Given the description of an element on the screen output the (x, y) to click on. 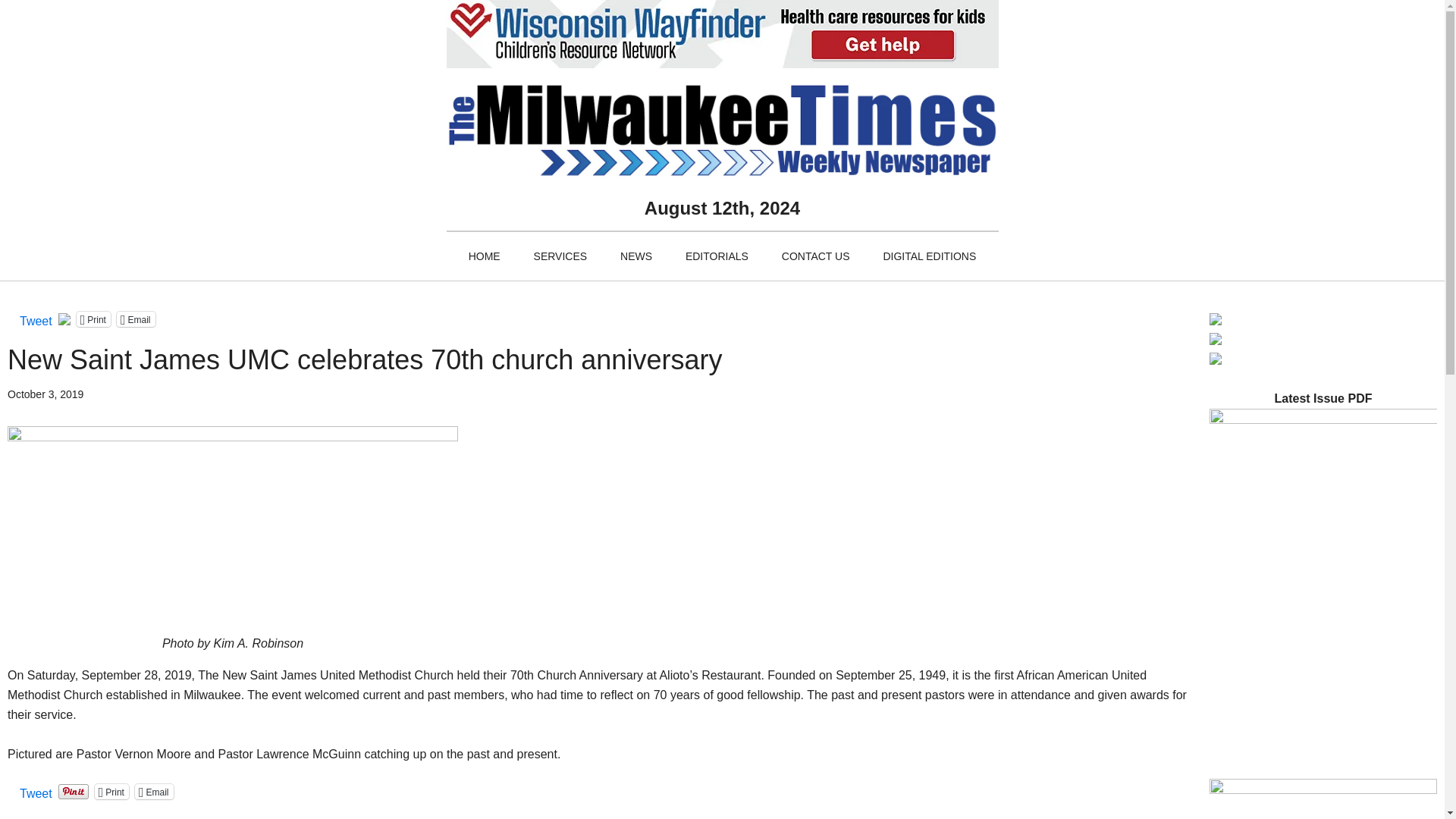
Click to print (93, 319)
NEWS (635, 255)
Email (154, 791)
Tweet (36, 790)
Click to email a link to a friend (135, 319)
Print (93, 319)
DIGITAL EDITIONS (929, 255)
Tweet (36, 318)
Click to print (111, 791)
